Given the description of an element on the screen output the (x, y) to click on. 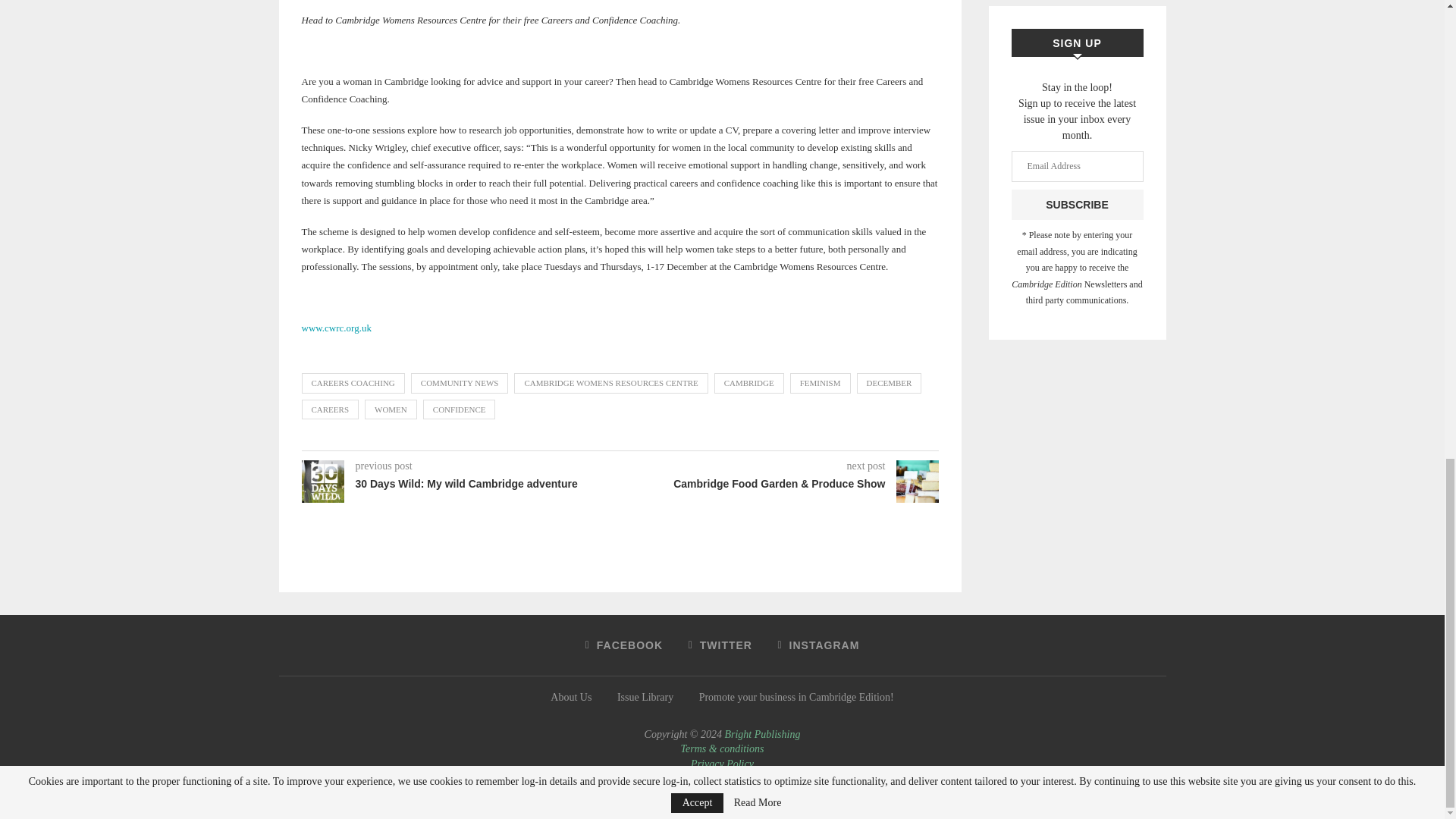
Subscribe (1076, 204)
